Given the description of an element on the screen output the (x, y) to click on. 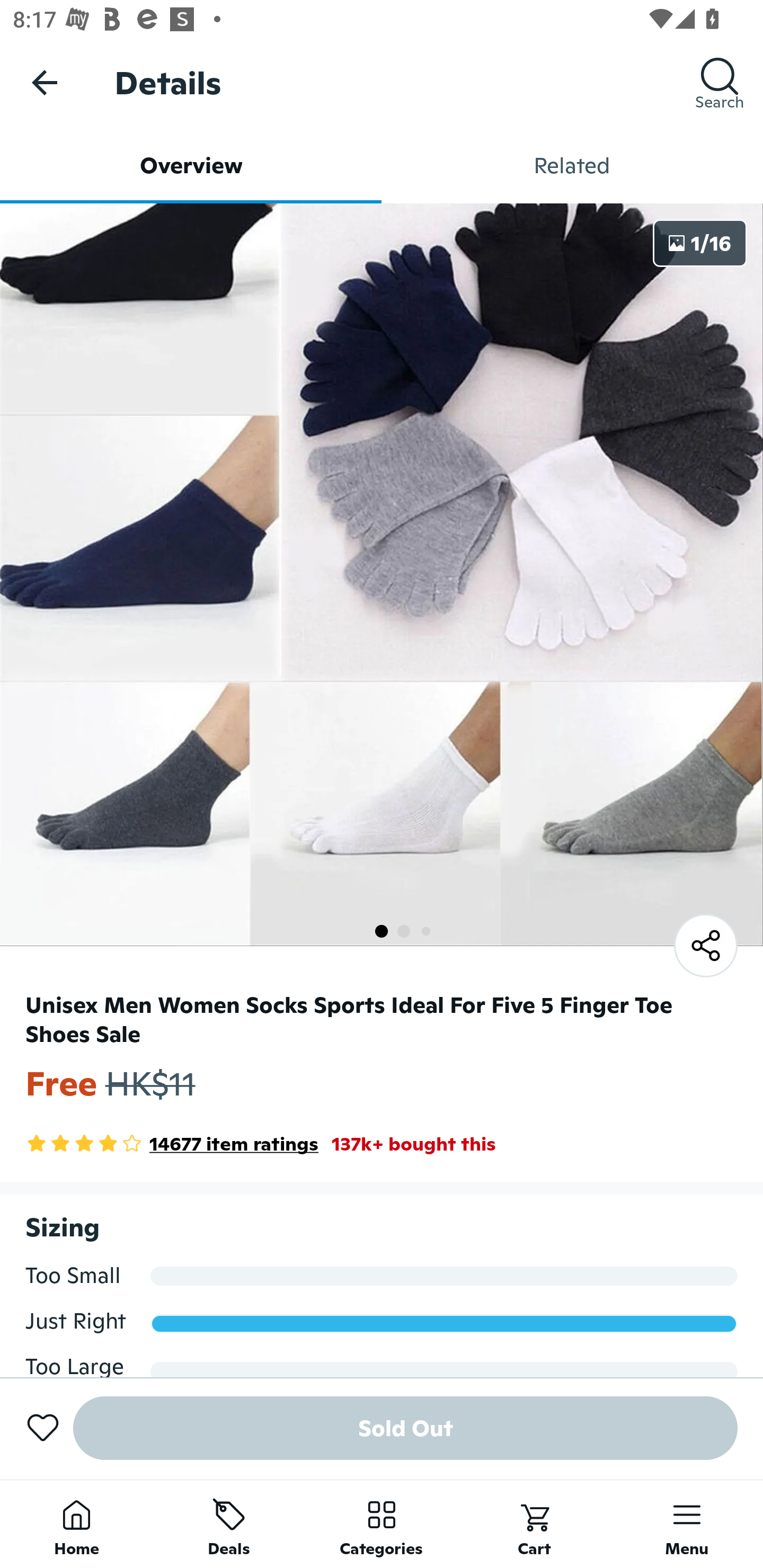
Navigate up (44, 82)
Search (719, 82)
Related (572, 165)
1/16 (700, 242)
4.2 Star Rating 14677 item ratings (171, 1143)
Sold Out (405, 1428)
Home (76, 1523)
Deals (228, 1523)
Categories (381, 1523)
Cart (533, 1523)
Menu (686, 1523)
